Given the description of an element on the screen output the (x, y) to click on. 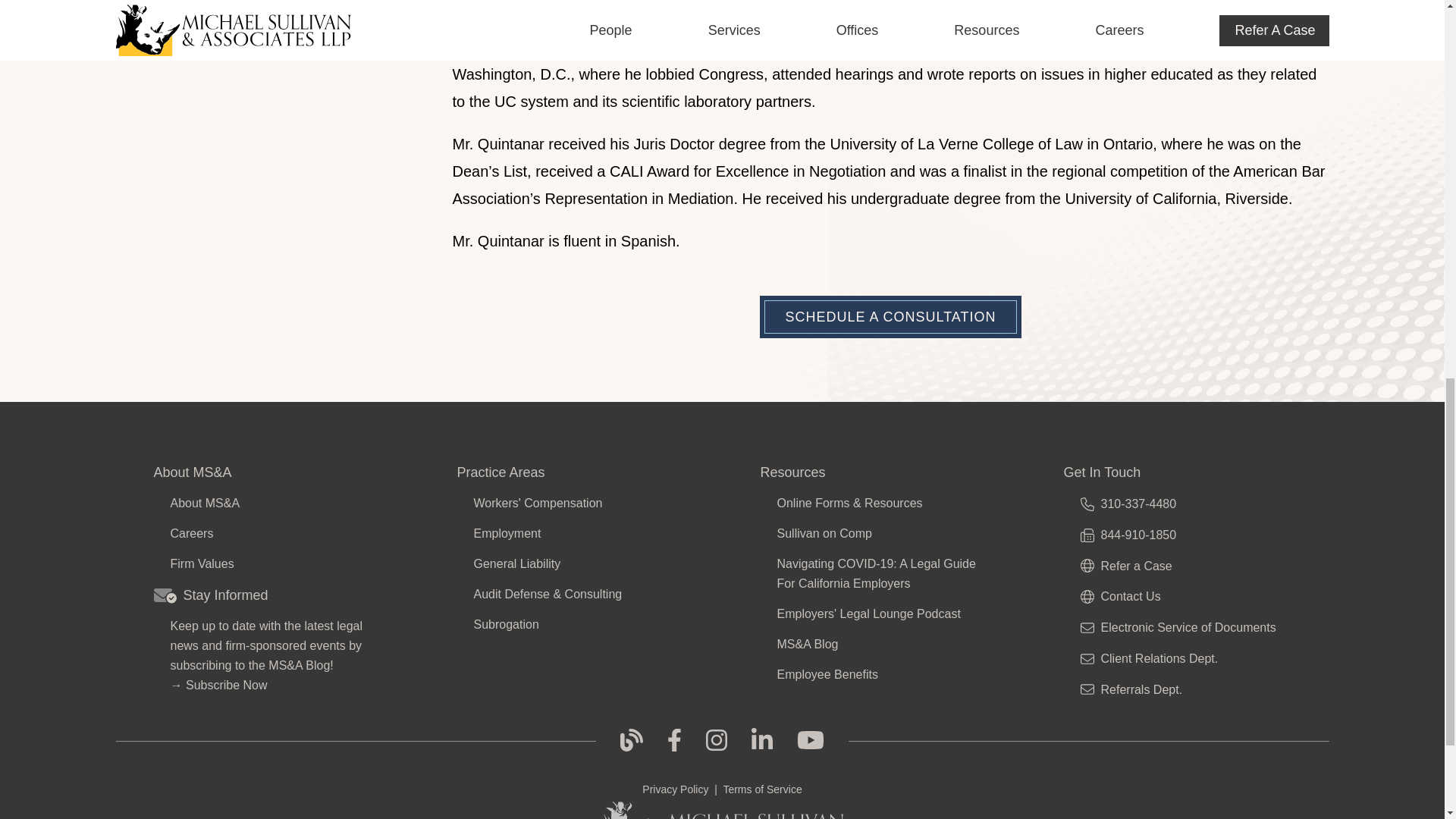
Workers' Compensation (575, 503)
Subrogation (575, 624)
Employee Benefits (877, 674)
Stay Informed (266, 594)
Subscribe Now (226, 684)
Employers' Legal Lounge Podcast (877, 614)
Navigating COVID-19: A Legal Guide For California Employers (877, 573)
SCHEDULE A CONSULTATION (890, 316)
General Liability (575, 564)
Employment (575, 533)
Resources (873, 472)
Careers (271, 533)
Practice Areas (570, 472)
Firm Values (271, 564)
Sullivan on Comp (877, 533)
